Given the description of an element on the screen output the (x, y) to click on. 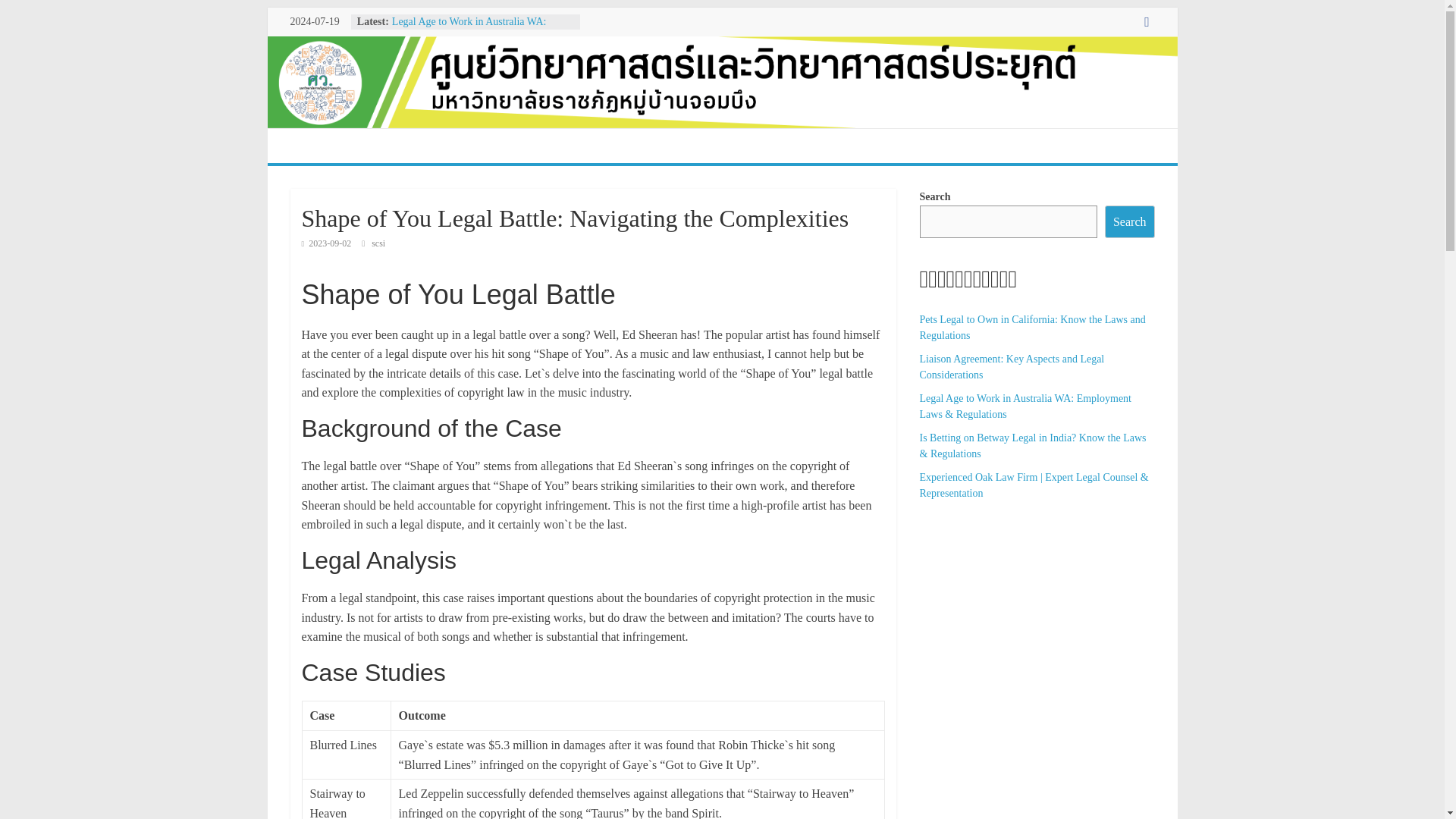
2:16 pm (326, 243)
scsi (378, 243)
2023-09-02 (326, 243)
Liaison Agreement: Key Aspects and Legal Considerations (1010, 366)
Search (1129, 222)
scsi (378, 243)
